Given the description of an element on the screen output the (x, y) to click on. 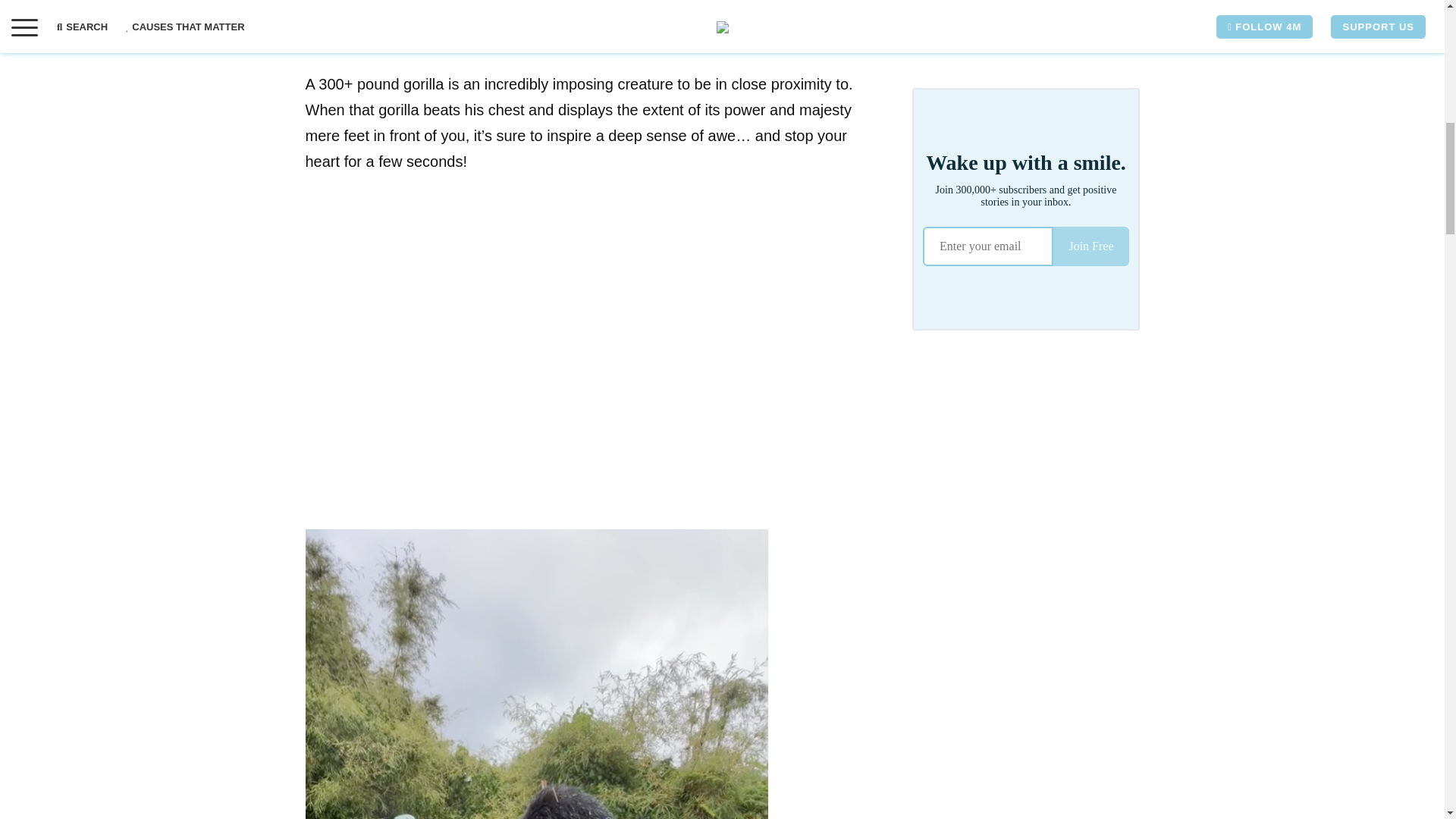
Click to share on Pinterest (377, 14)
Click to share on Facebook (316, 14)
Click to share on Twitter (346, 14)
